Given the description of an element on the screen output the (x, y) to click on. 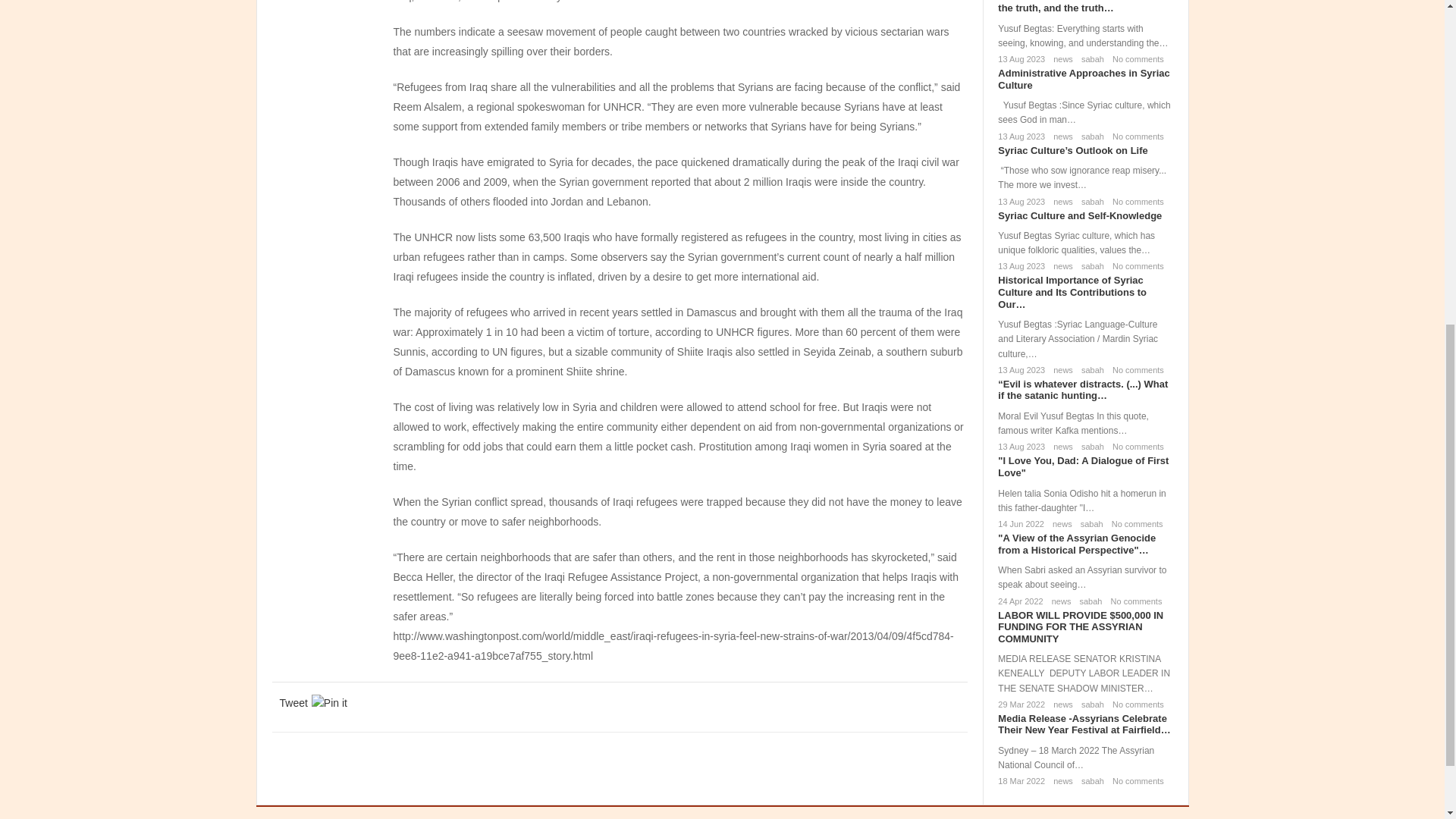
Pin it (329, 702)
Administrative Approaches in Syriac Culture (1083, 78)
Tweet (293, 702)
I Love You, Dad: A Dialogue of First Love (1083, 466)
